Given the description of an element on the screen output the (x, y) to click on. 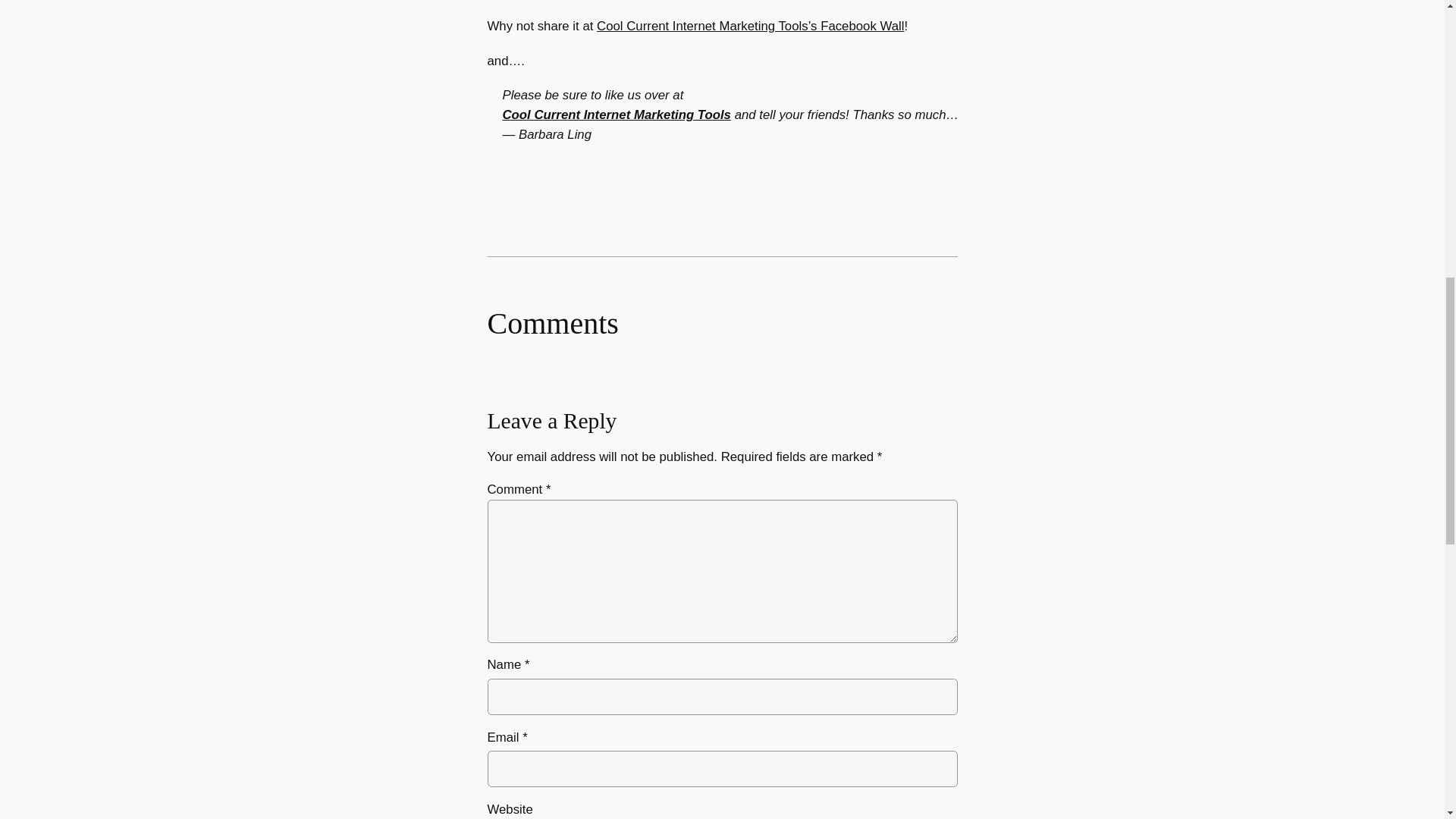
Cool Current Internet Marketing Tools (616, 114)
